Given the description of an element on the screen output the (x, y) to click on. 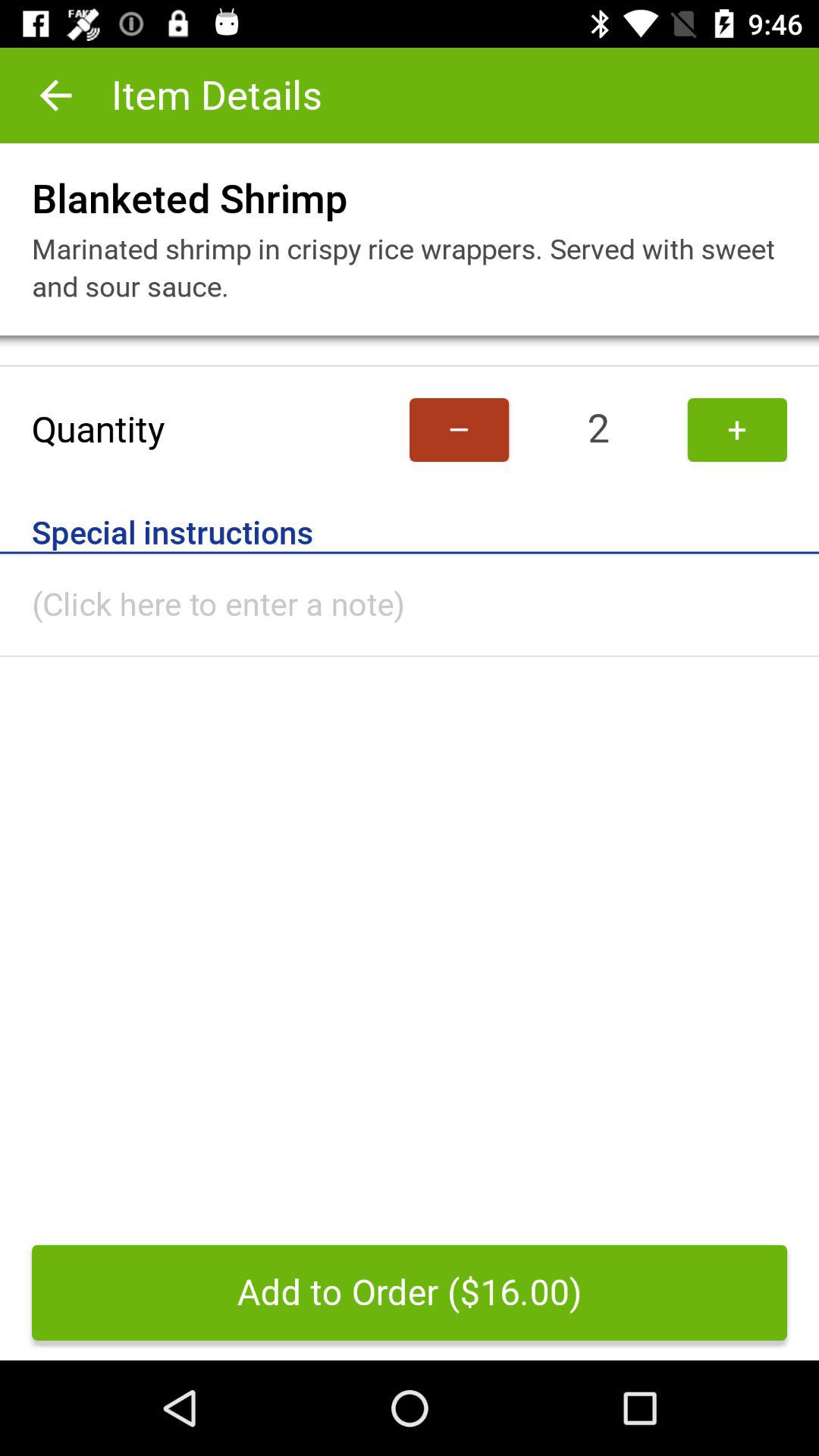
select item to the left of 2 (459, 429)
